Given the description of an element on the screen output the (x, y) to click on. 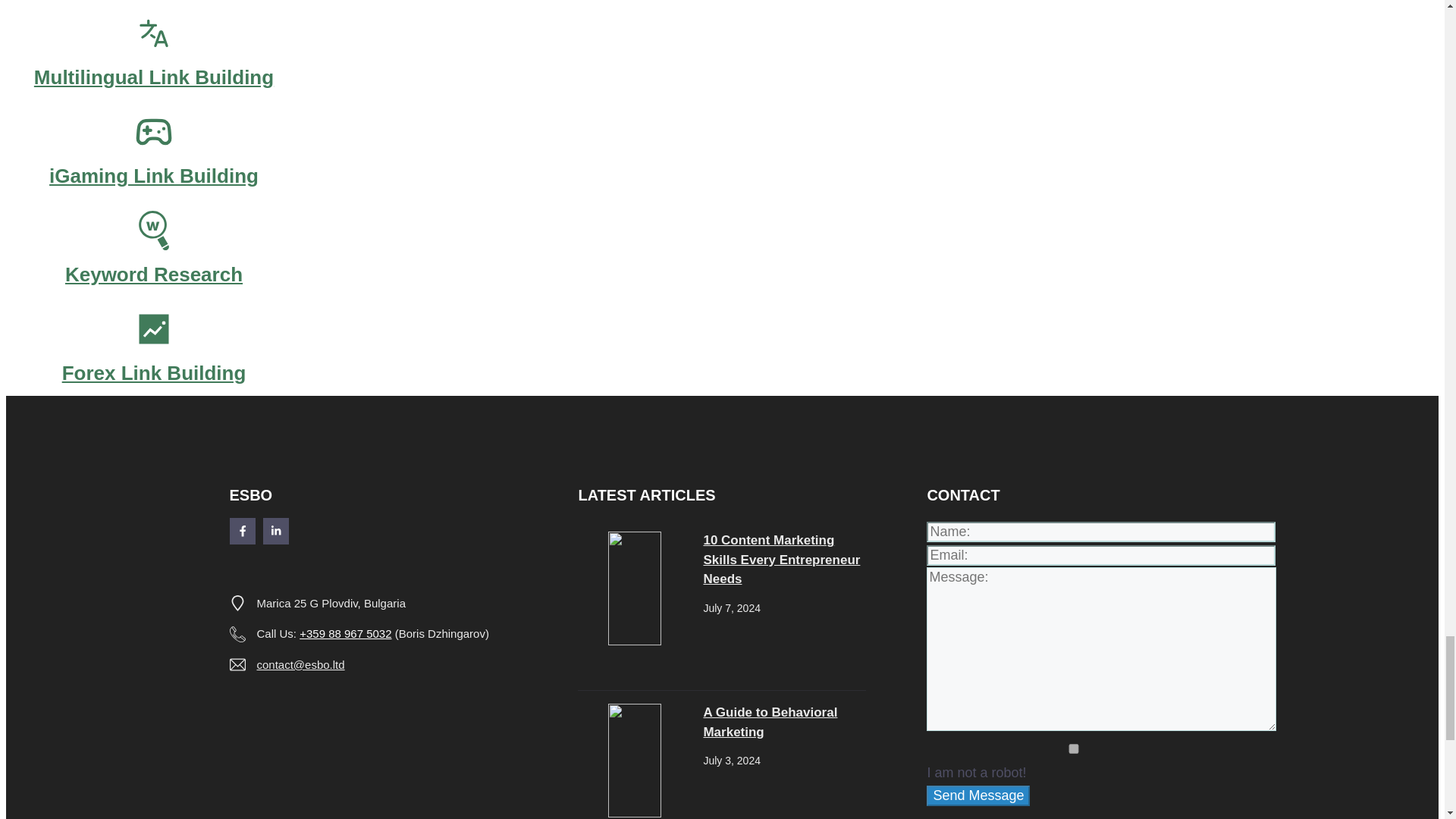
Send Message (977, 795)
I am not a robot! (1073, 748)
